Given the description of an element on the screen output the (x, y) to click on. 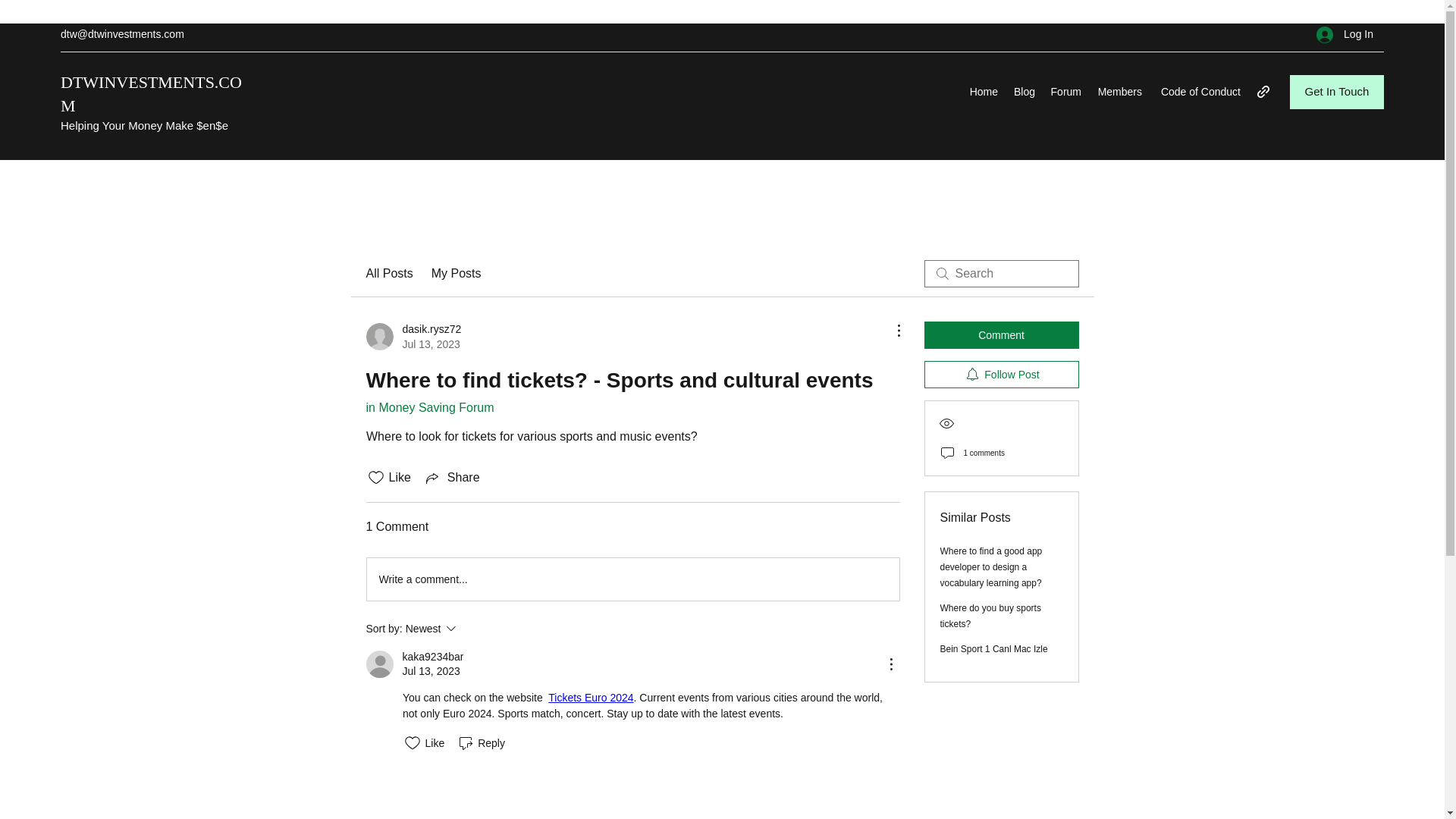
Blog (413, 336)
Where do you buy sports tickets? (1024, 91)
Write a comment... (990, 615)
Log In (632, 578)
Tickets Euro 2024 (1345, 34)
Home (590, 697)
Get In Touch (983, 91)
kaka9234bar (1337, 91)
Comment (432, 657)
Bein Sport 1 Canl Mac Izle (1000, 334)
All Posts (994, 648)
Members (388, 273)
My Posts (1119, 91)
